Given the description of an element on the screen output the (x, y) to click on. 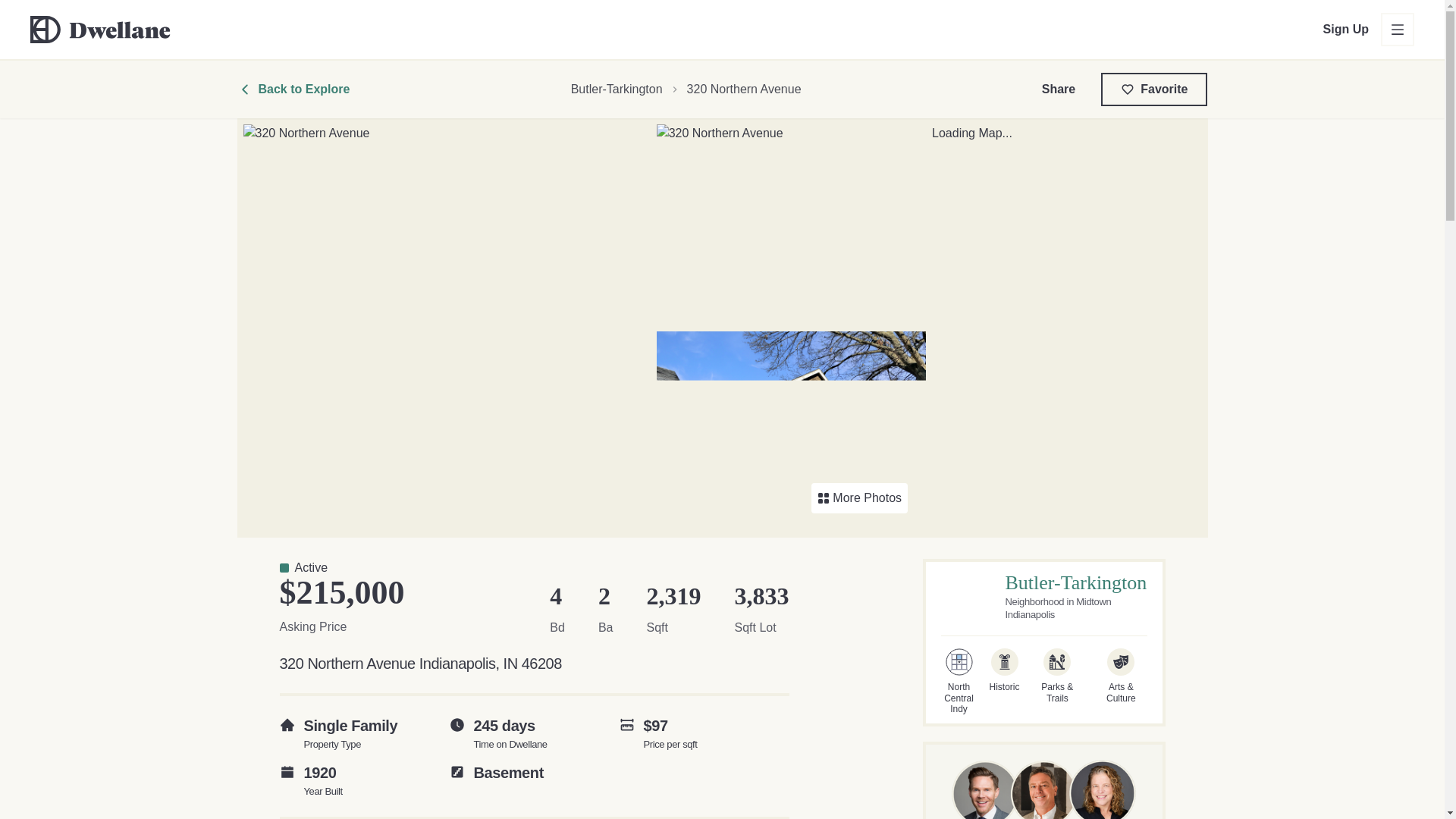
Sign Up (1345, 29)
Butler-Tarkington (616, 89)
Favorite (1153, 89)
Back to Explore (292, 89)
Share (1058, 89)
Wed Dec 13 2023 (510, 733)
Midtown Indianapolis (1059, 607)
Butler-Tarkington (1076, 582)
